Given the description of an element on the screen output the (x, y) to click on. 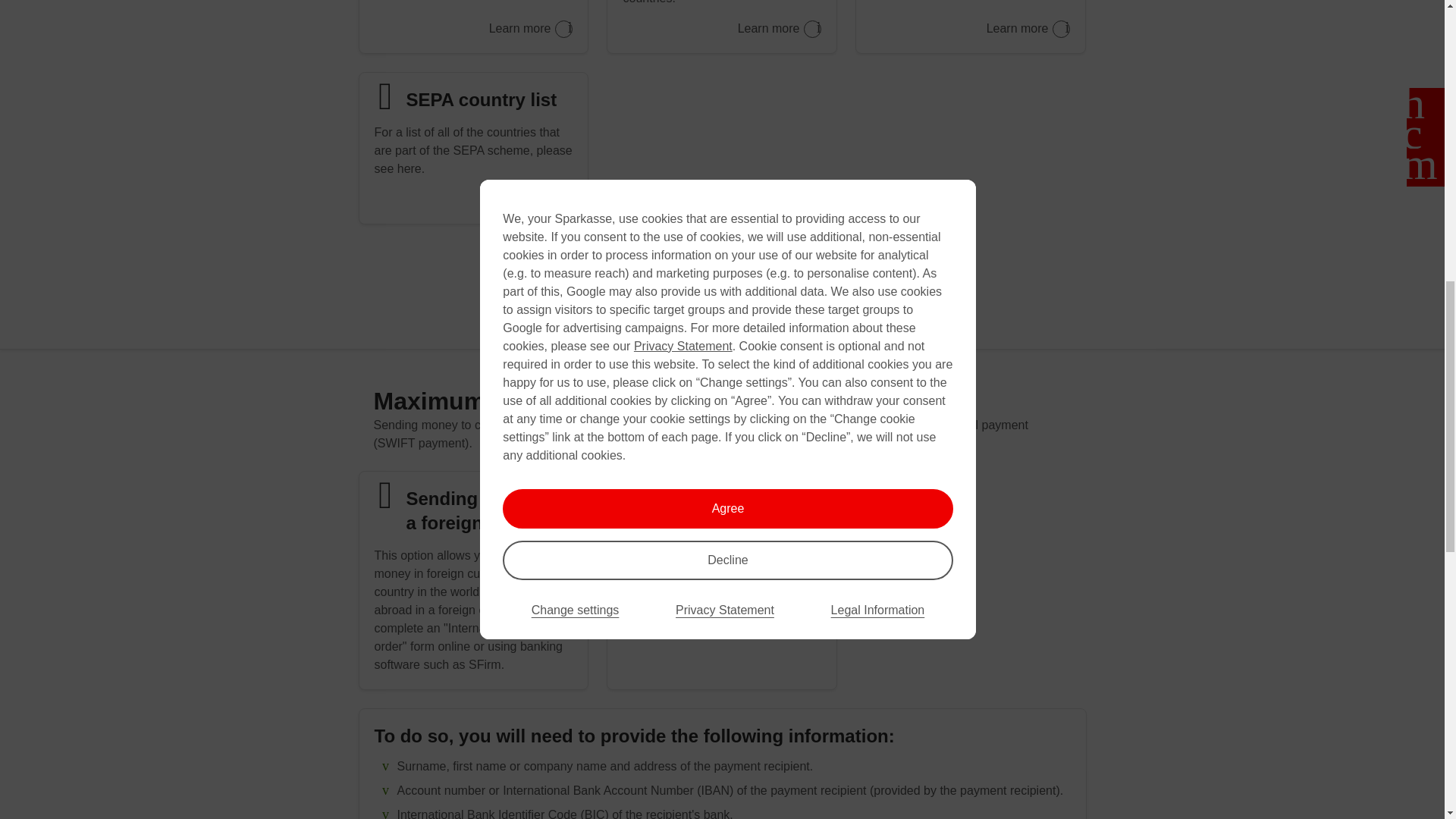
Learn more (780, 28)
Learn more (531, 28)
Learn more (1028, 28)
